Given the description of an element on the screen output the (x, y) to click on. 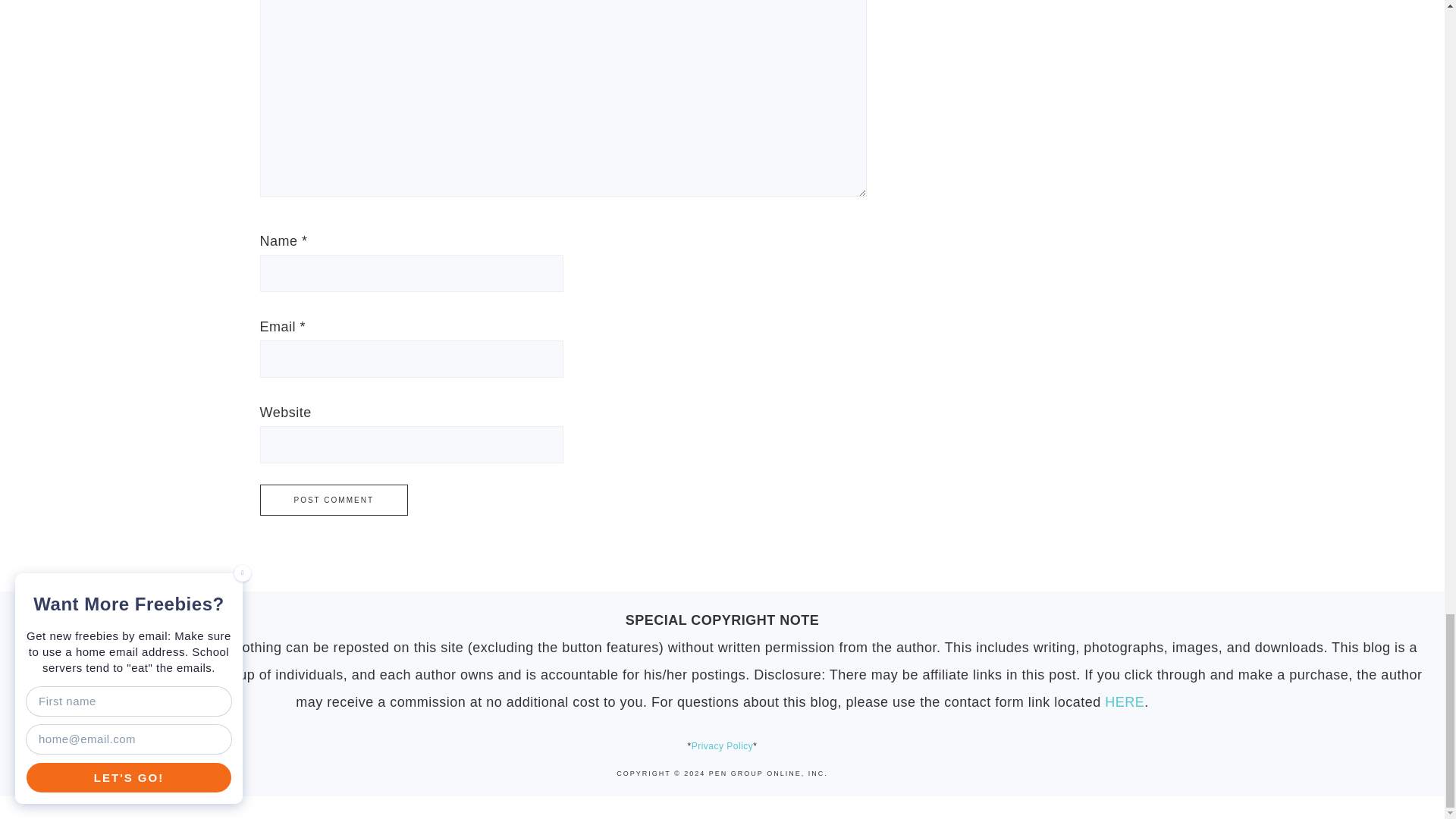
Post Comment (333, 499)
